Given the description of an element on the screen output the (x, y) to click on. 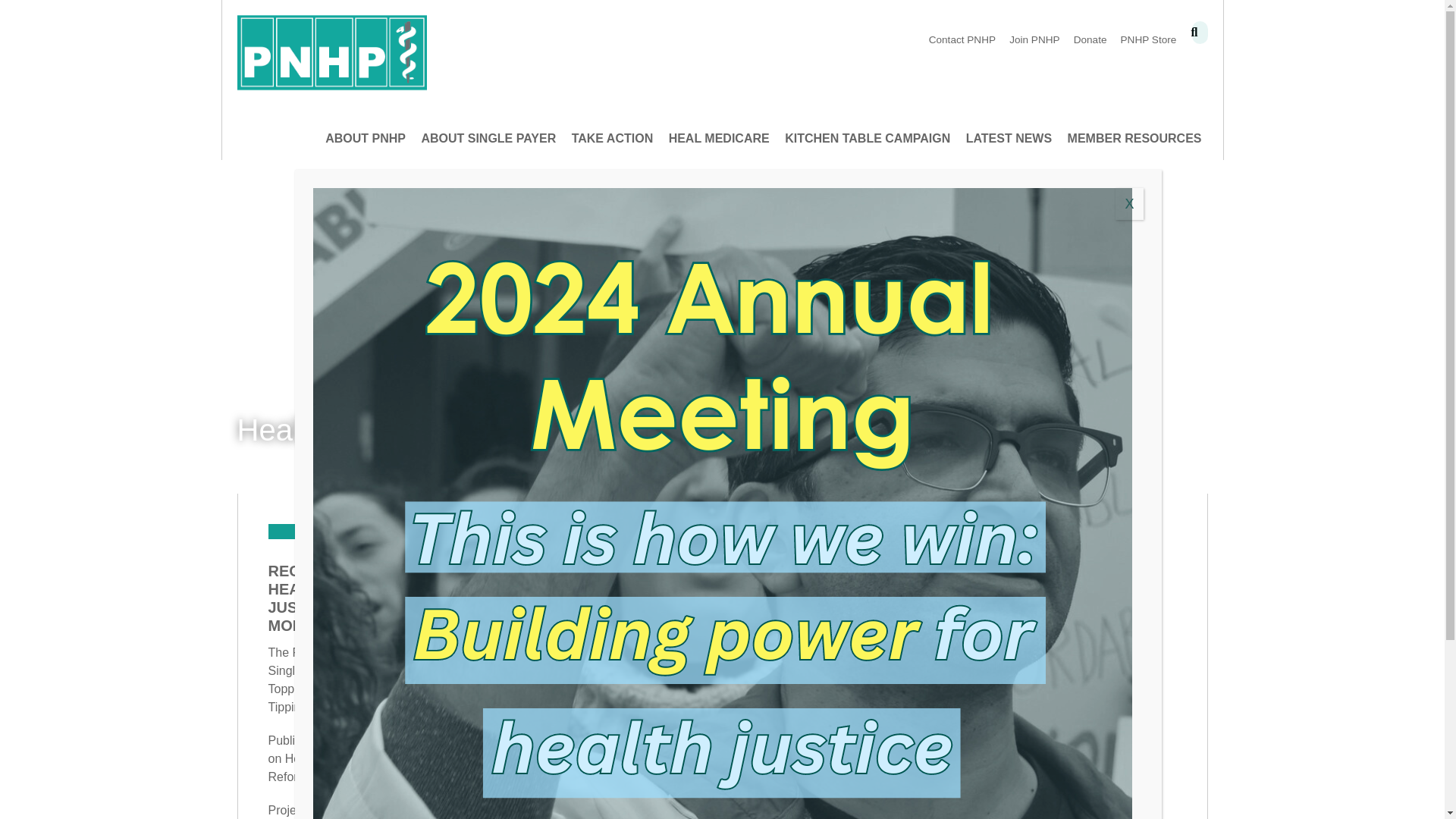
Project 2025 Health Policy Critique Redux (308, 811)
Join PNHP (1034, 40)
PNHP Store (1147, 40)
TAKE ACTION (612, 138)
ABOUT SINGLE PAYER (488, 138)
Contact PNHP (962, 40)
Donate (1090, 40)
The Pursuit of Single Payer: Toppling, or Tipping Point? (306, 679)
ABOUT PNHP (365, 138)
